Given the description of an element on the screen output the (x, y) to click on. 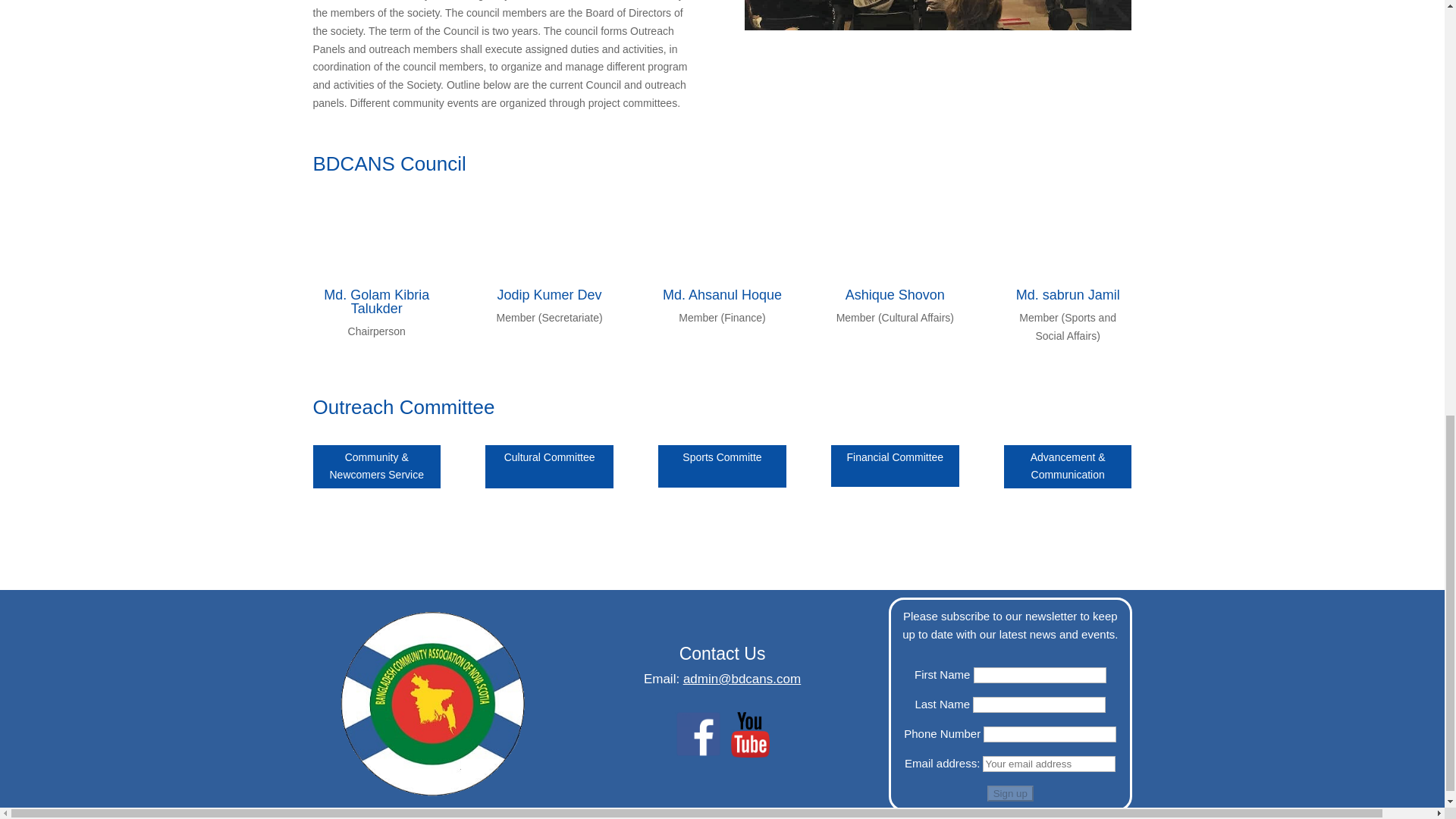
Sign up (1010, 793)
Sign up (1010, 793)
